Given the description of an element on the screen output the (x, y) to click on. 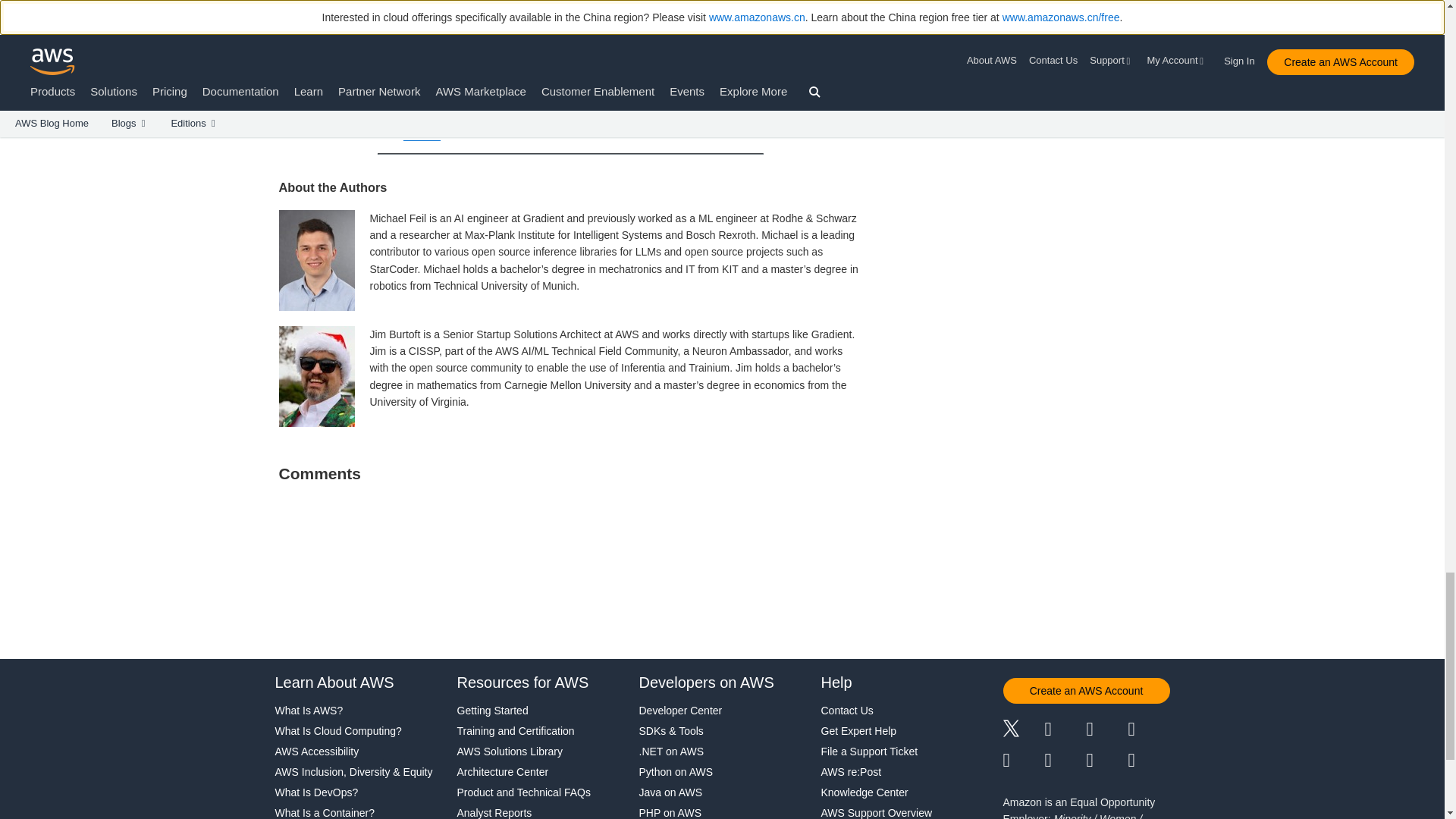
Instagram (1149, 730)
Podcast (1106, 760)
Twitter (1023, 730)
Twitch (1023, 760)
Linkedin (1106, 730)
Email (1149, 760)
YouTube (1065, 760)
Facebook (1065, 730)
